Given the description of an element on the screen output the (x, y) to click on. 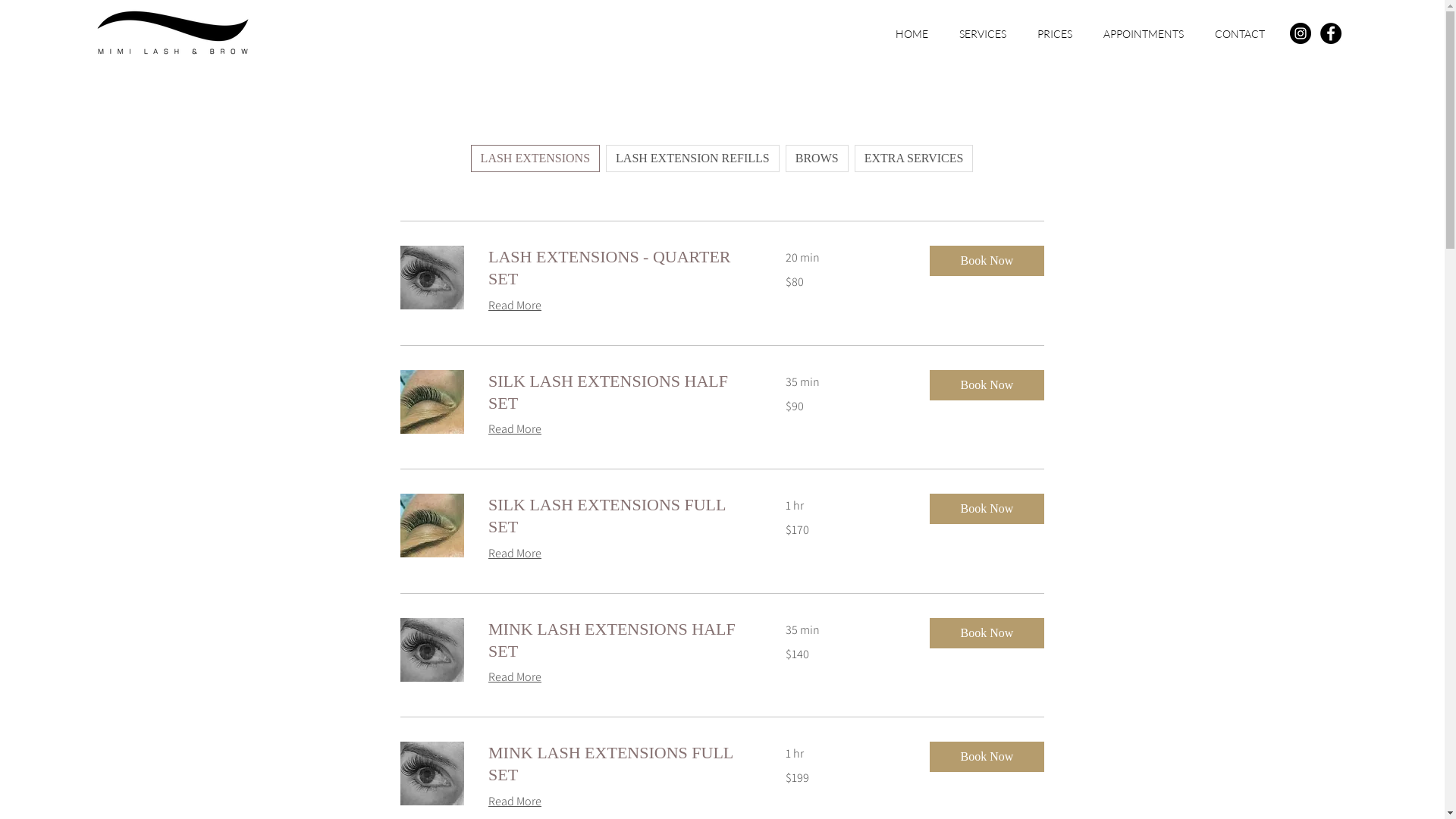
LASH EXTENSIONS - QUARTER SET Element type: text (618, 267)
Read More Element type: text (514, 429)
Read More Element type: text (514, 801)
Book Now Element type: text (986, 260)
Read More Element type: text (514, 305)
Book Now Element type: text (986, 756)
CONTACT Element type: text (1239, 33)
APPOINTMENTS Element type: text (1142, 33)
Book Now Element type: text (986, 633)
HOME Element type: text (911, 33)
PRICES Element type: text (1054, 33)
SILK LASH EXTENSIONS HALF SET Element type: text (618, 392)
SILK LASH EXTENSIONS FULL SET Element type: text (618, 515)
Book Now Element type: text (986, 508)
MINK LASH EXTENSIONS FULL SET Element type: text (618, 763)
Book Now Element type: text (986, 385)
MINK LASH EXTENSIONS HALF SET Element type: text (618, 640)
Read More Element type: text (514, 677)
SERVICES Element type: text (982, 33)
Read More Element type: text (514, 553)
